Given the description of an element on the screen output the (x, y) to click on. 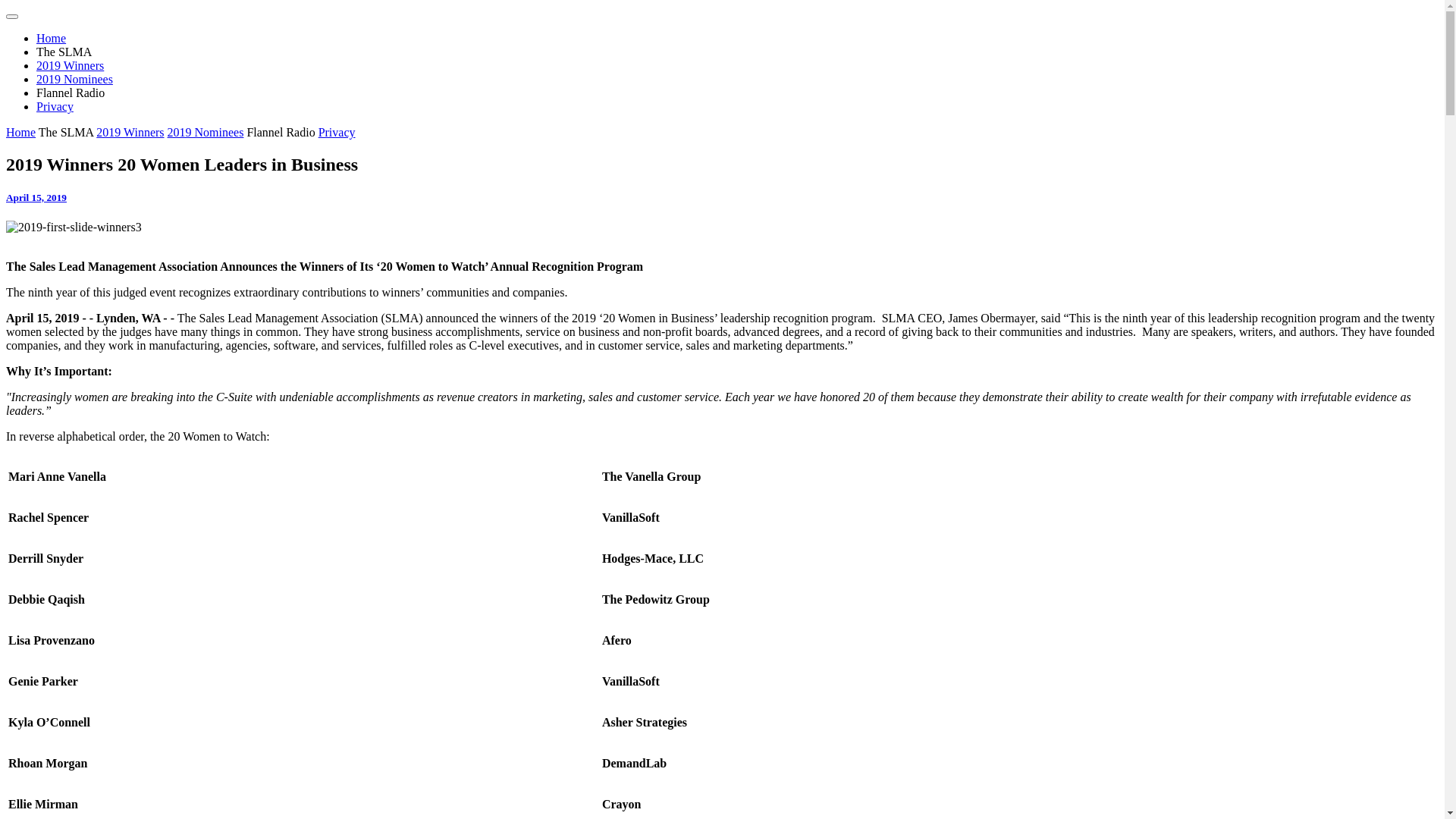
2019 Nominees Element type: text (205, 131)
2019 Nominees Element type: text (74, 78)
Privacy Element type: text (54, 106)
2019 Winners Element type: text (69, 65)
2019 Winners Element type: text (129, 131)
Home Element type: text (50, 37)
Home Element type: text (20, 131)
April 15, 2019 Element type: text (36, 197)
Privacy Element type: text (336, 131)
2019-first-slide-winners3 Element type: hover (722, 227)
